Given the description of an element on the screen output the (x, y) to click on. 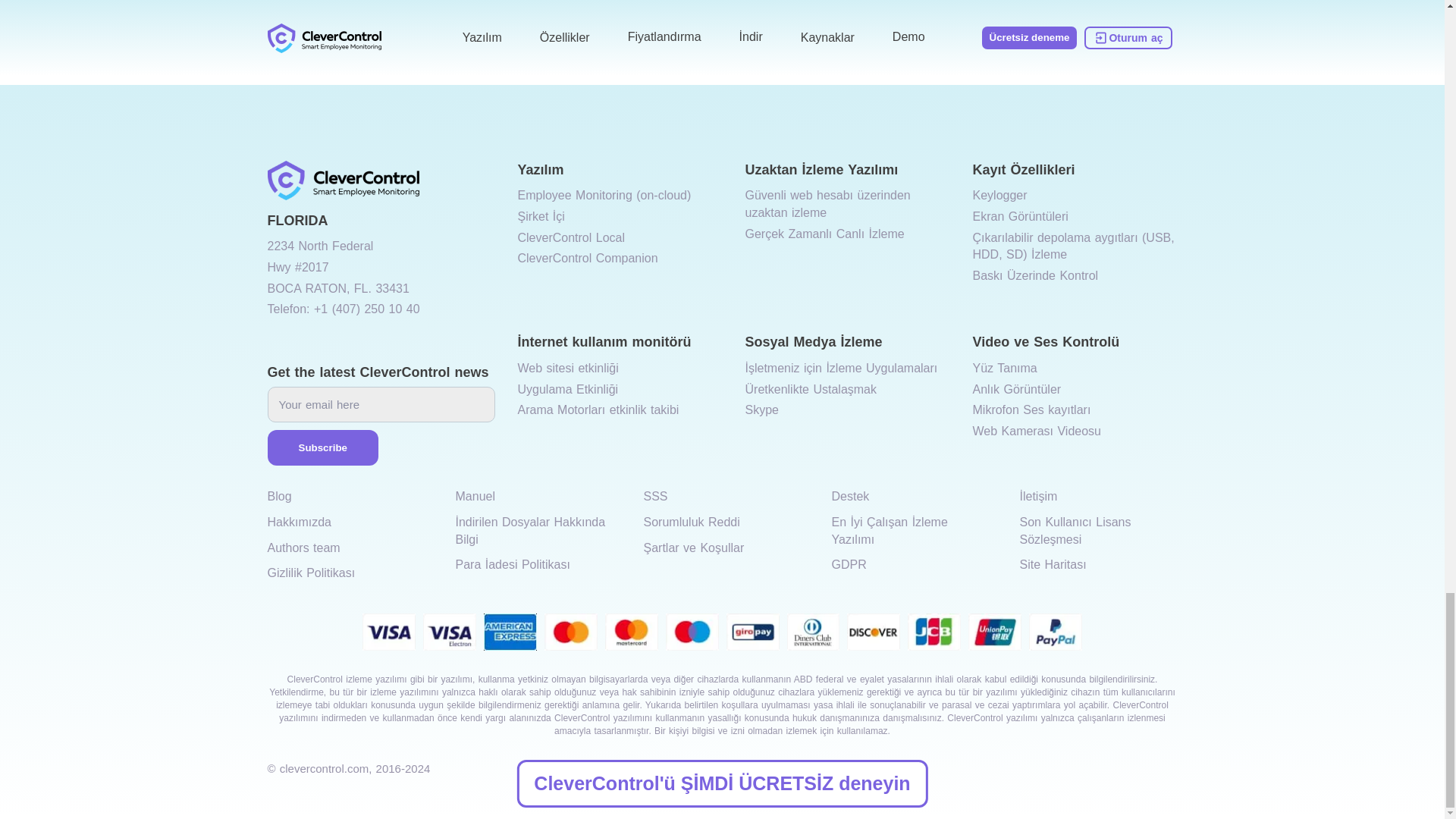
Subscribe (321, 447)
Keylogger (999, 195)
Skype (760, 409)
CleverControl Companion (587, 258)
CleverControl Local (570, 237)
